Given the description of an element on the screen output the (x, y) to click on. 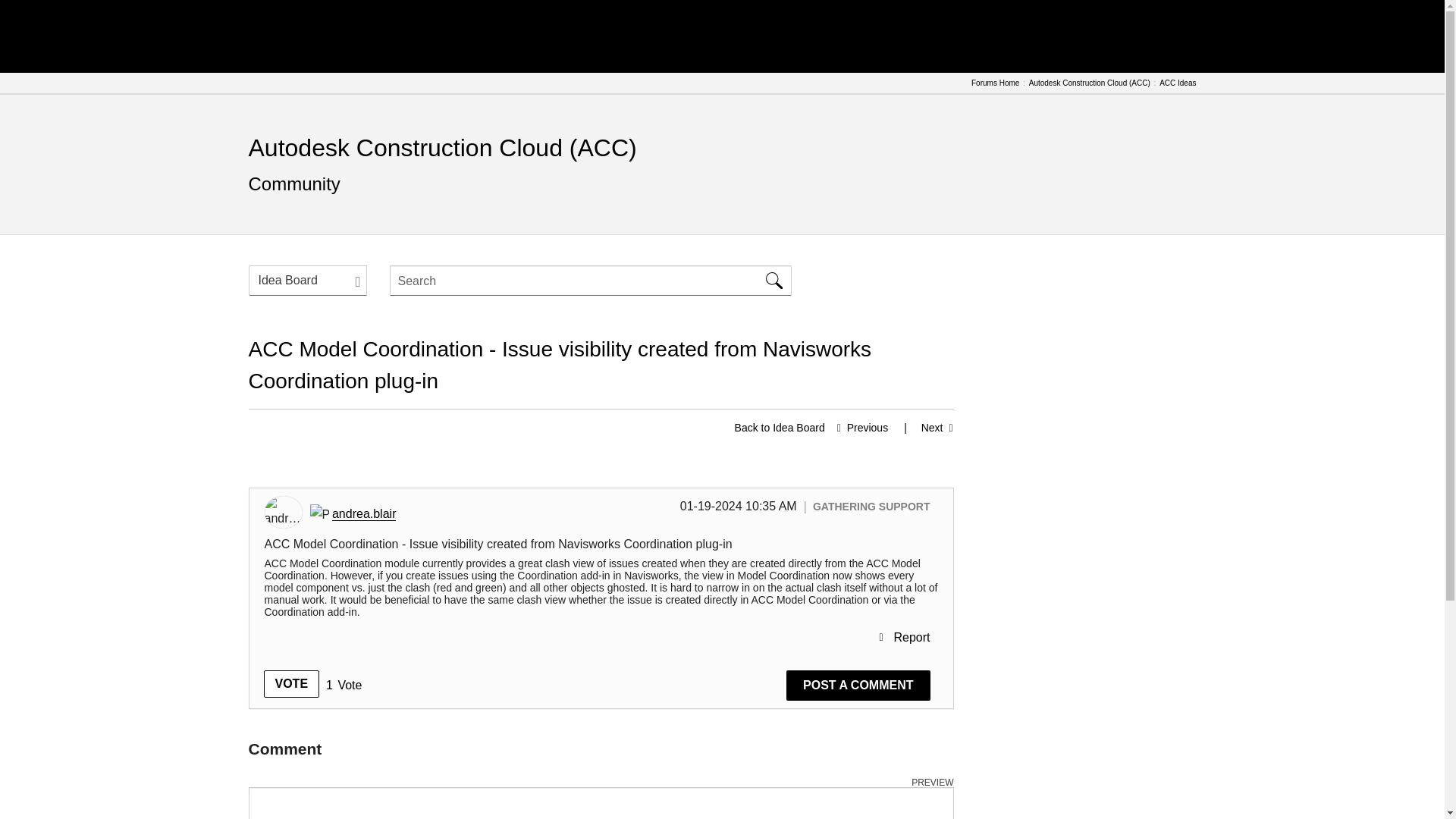
Search Granularity (307, 280)
VOTE (291, 683)
Search (774, 280)
ACC Ideas (1176, 82)
Forums Home (995, 82)
ACC Ideas (779, 427)
1 Vote (343, 685)
Click here to see who gave votes to this post. (343, 685)
Report (904, 637)
Participant (318, 514)
Previous (858, 427)
PREVIEW (932, 782)
Search (774, 280)
Actions after reviewing a file. (920, 427)
Search (591, 280)
